Given the description of an element on the screen output the (x, y) to click on. 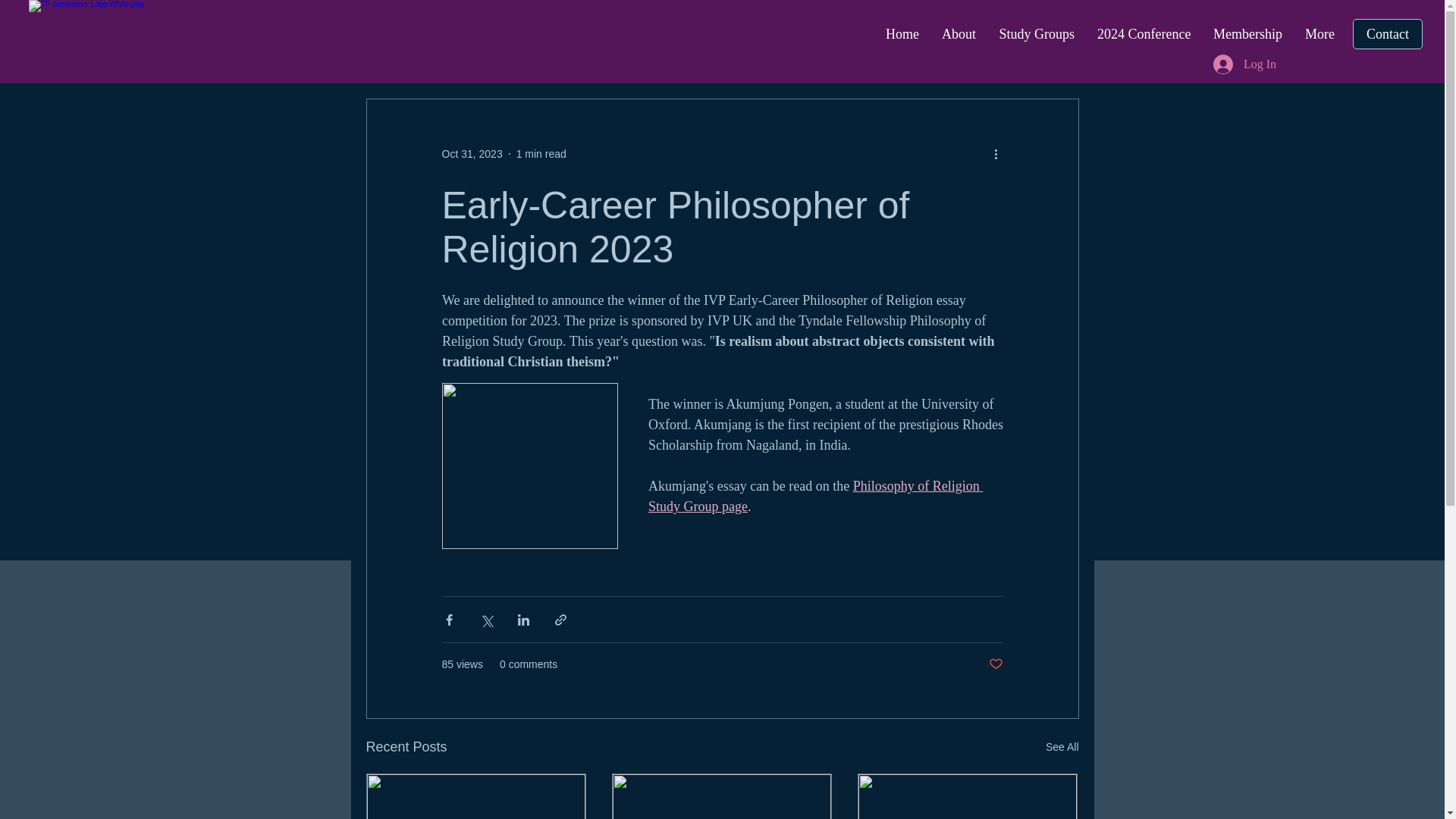
Log In (1244, 63)
About (958, 34)
Contact (1387, 33)
Membership (1248, 34)
Study Groups (1036, 34)
Post not marked as liked (995, 664)
See All (1061, 747)
1 min read (541, 152)
Oct 31, 2023 (471, 152)
Home (902, 34)
Philosophy of Religion Study Group page (814, 496)
2024 Conference (1144, 34)
